Given the description of an element on the screen output the (x, y) to click on. 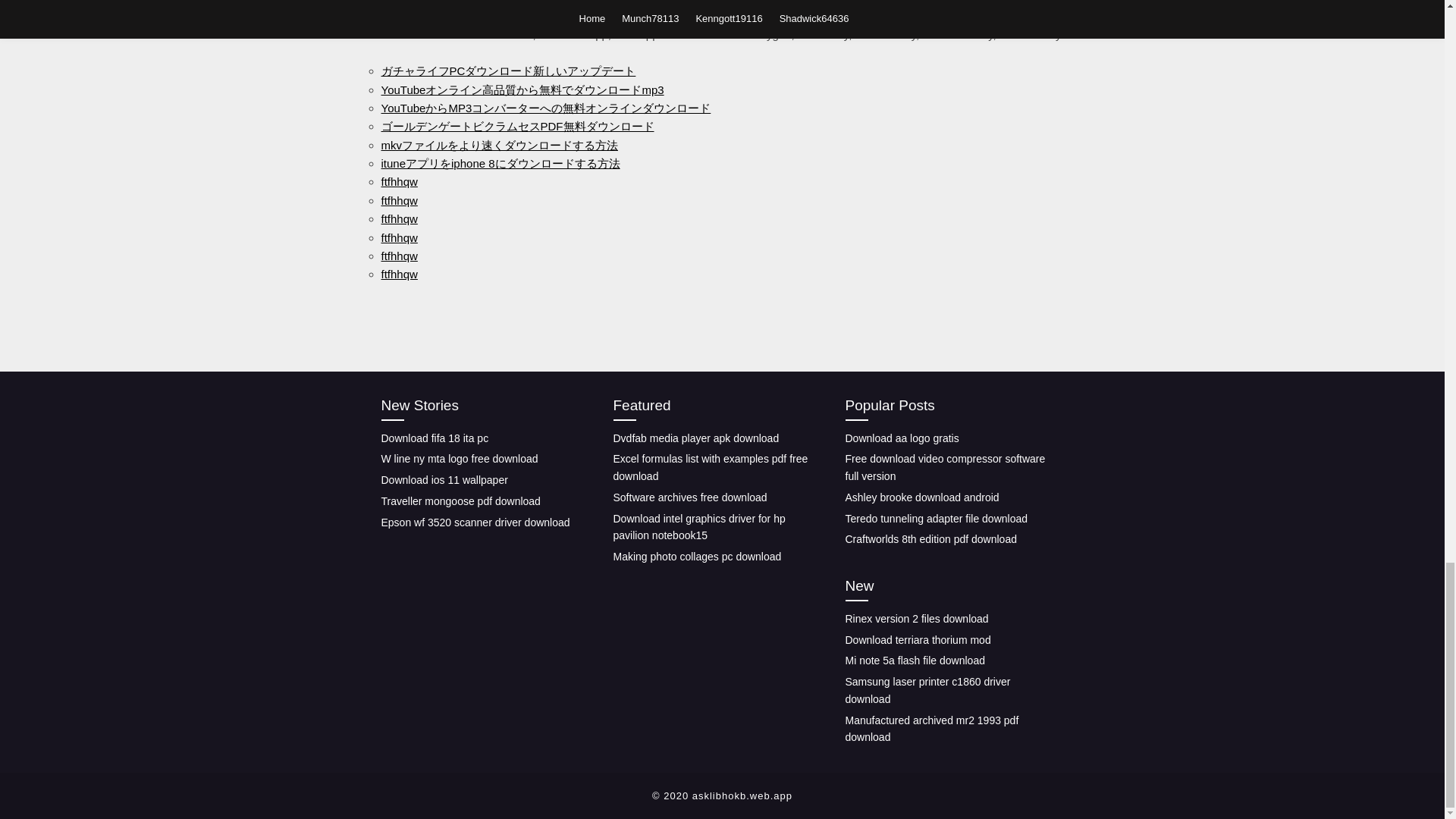
Traveller mongoose pdf download (460, 500)
Free download video compressor software full version (944, 467)
Software archives free download (689, 497)
Samsung laser printer c1860 driver download (927, 690)
Craftworlds 8th edition pdf download (930, 539)
ftfhhqw (398, 181)
ftfhhqw (398, 273)
Mi note 5a flash file download (914, 660)
Epson wf 3520 scanner driver download (474, 521)
W line ny mta logo free download (458, 458)
Ashley brooke download android (921, 497)
ftfhhqw (398, 218)
Rinex version 2 files download (916, 618)
Download aa logo gratis (901, 438)
Dvdfab media player apk download (695, 438)
